Given the description of an element on the screen output the (x, y) to click on. 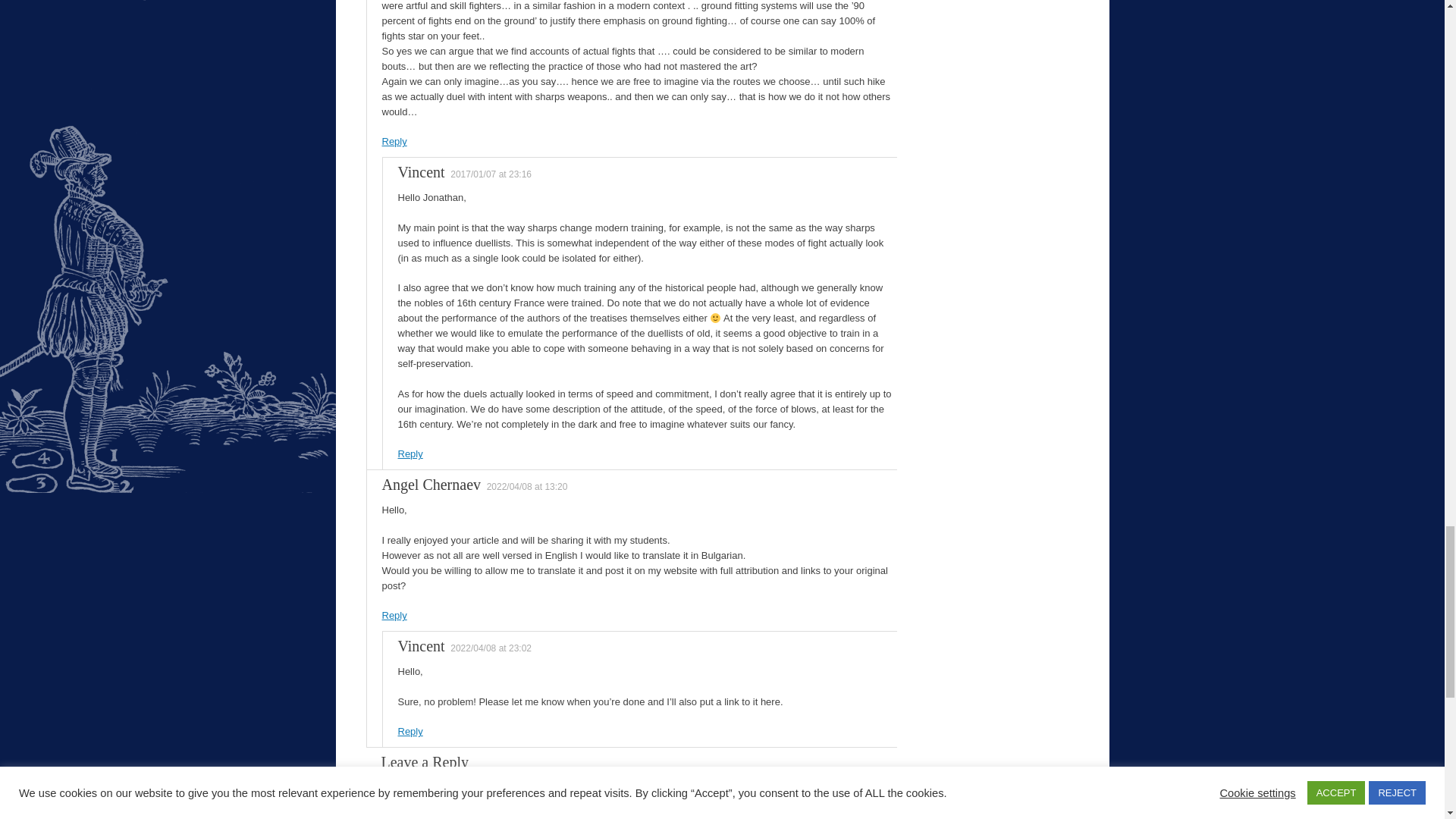
Angel Chernaev (431, 484)
Reply (394, 141)
Reply (409, 453)
